Given the description of an element on the screen output the (x, y) to click on. 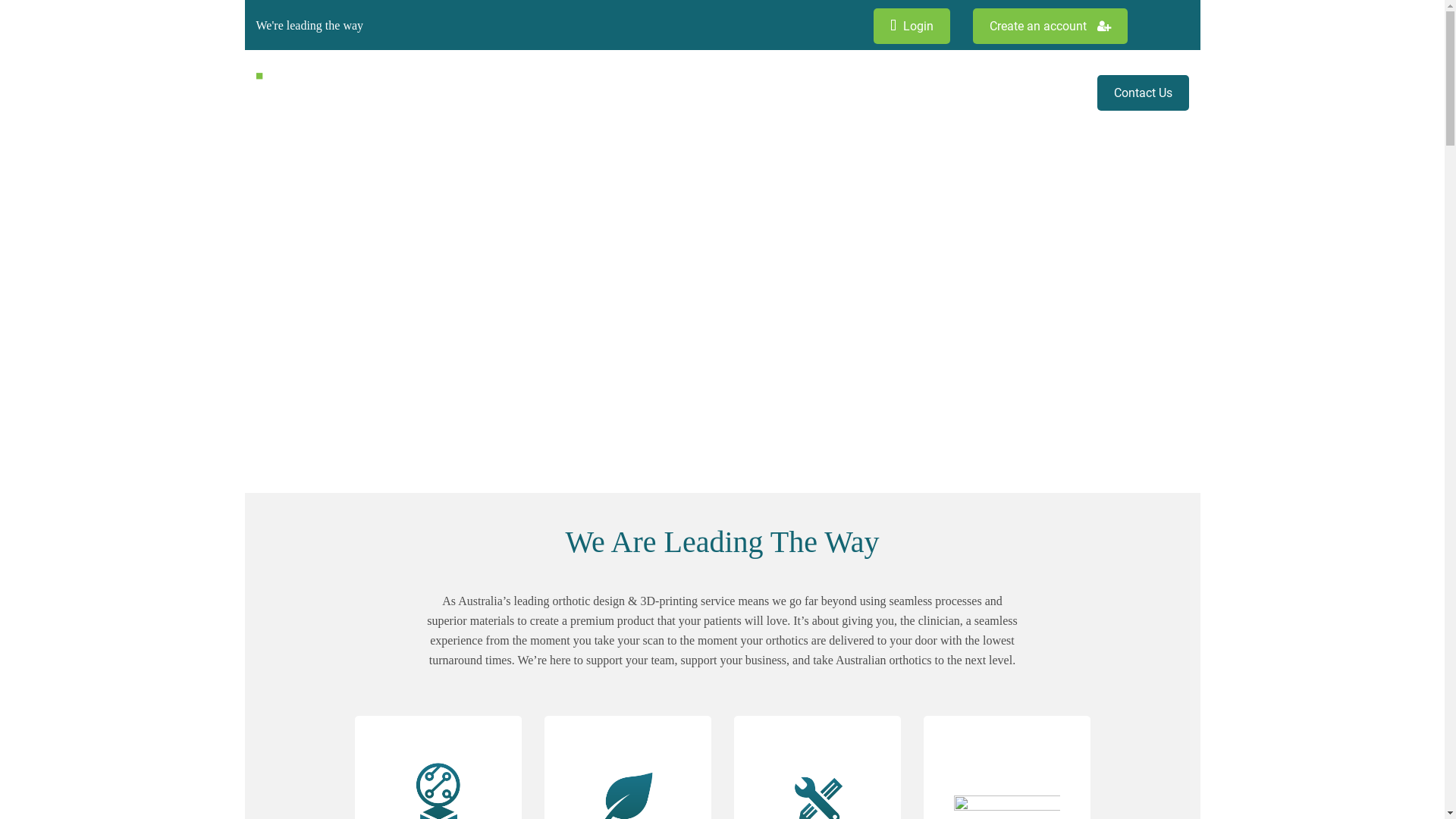
Contact Us Element type: text (1142, 92)
Partner with iOrthotics Element type: text (976, 92)
Login Element type: text (911, 25)
About iOrthotics Element type: text (679, 92)
Home Element type: text (603, 92)
Our Products Element type: text (771, 92)
News Element type: text (1065, 92)
Create an account Element type: text (1049, 25)
iOrder Platform Element type: text (862, 92)
